Given the description of an element on the screen output the (x, y) to click on. 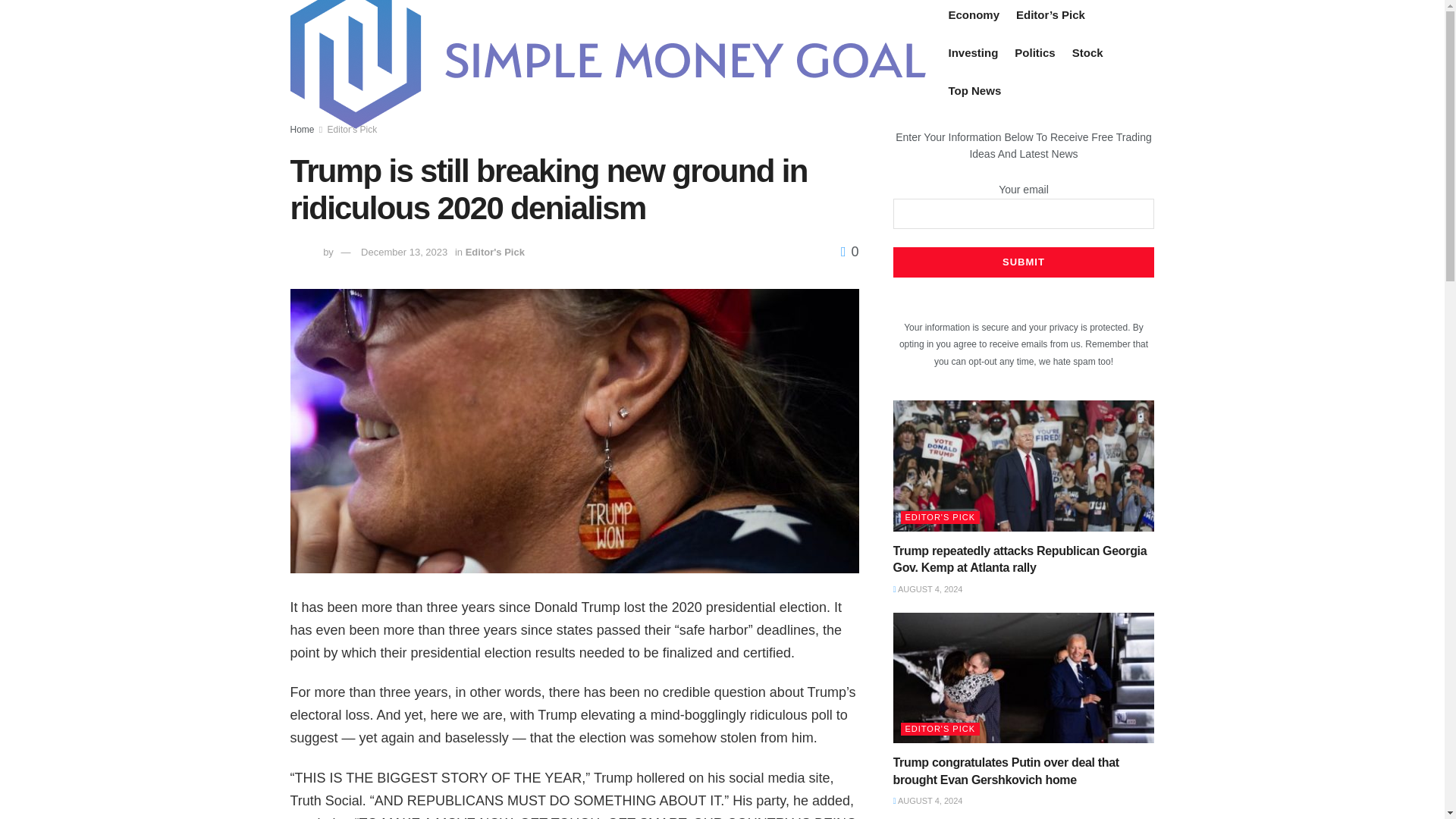
Stock (1087, 52)
Editor's Pick (352, 129)
Submit (1023, 262)
Editor's Pick (494, 251)
Politics (1034, 52)
Home (301, 129)
Top News (974, 90)
EDITOR'S PICK (940, 517)
AUGUST 4, 2024 (927, 800)
EDITOR'S PICK (940, 728)
0 (850, 251)
Economy (972, 14)
Submit (1023, 262)
